Given the description of an element on the screen output the (x, y) to click on. 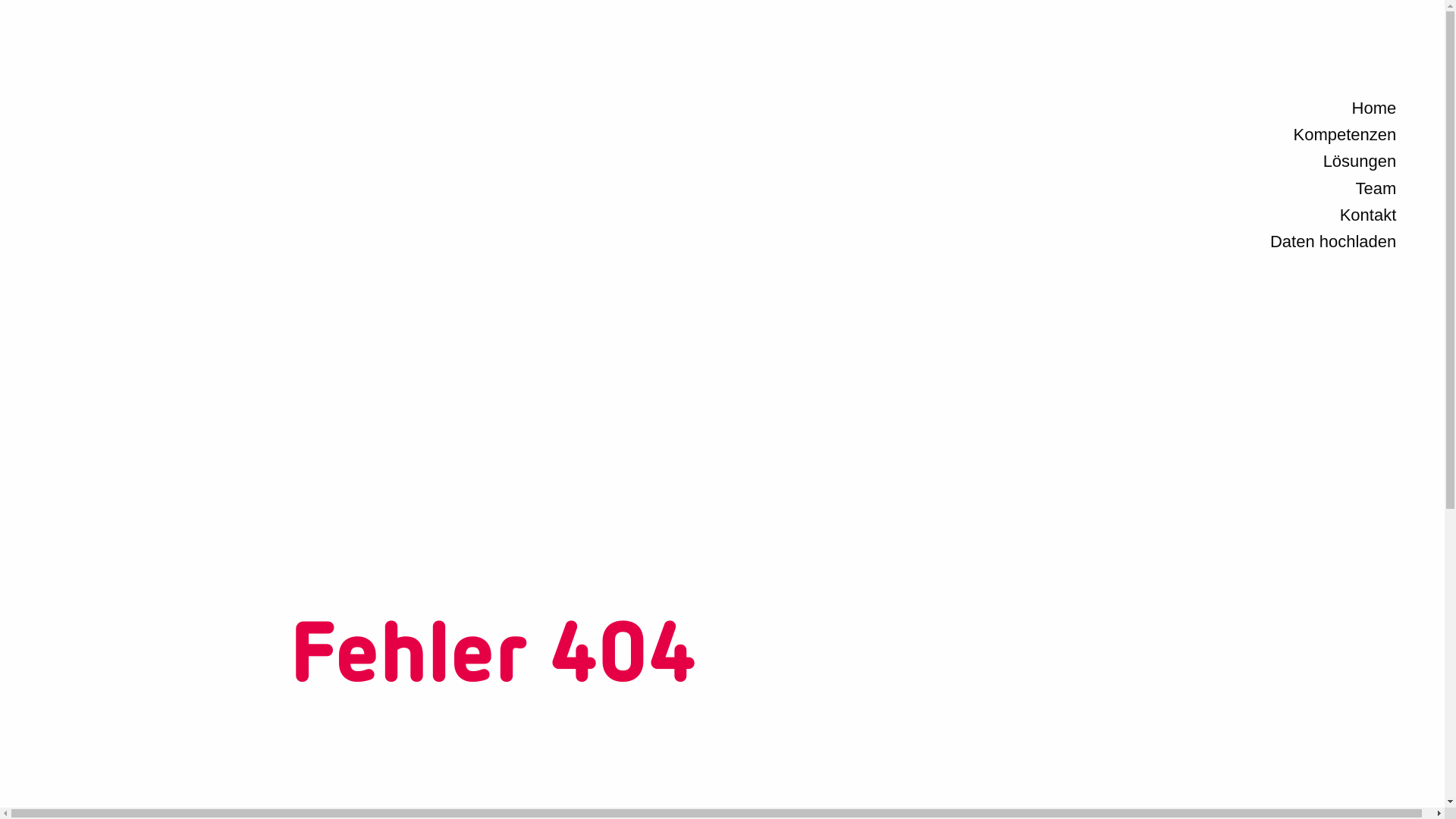
Kompetenzen Element type: text (1344, 134)
Daten hochladen Element type: text (1333, 241)
Nach unten Element type: hover (1050, 654)
Kontakt Element type: text (1367, 214)
Home Element type: text (1374, 107)
Team Element type: text (1375, 187)
